Given the description of an element on the screen output the (x, y) to click on. 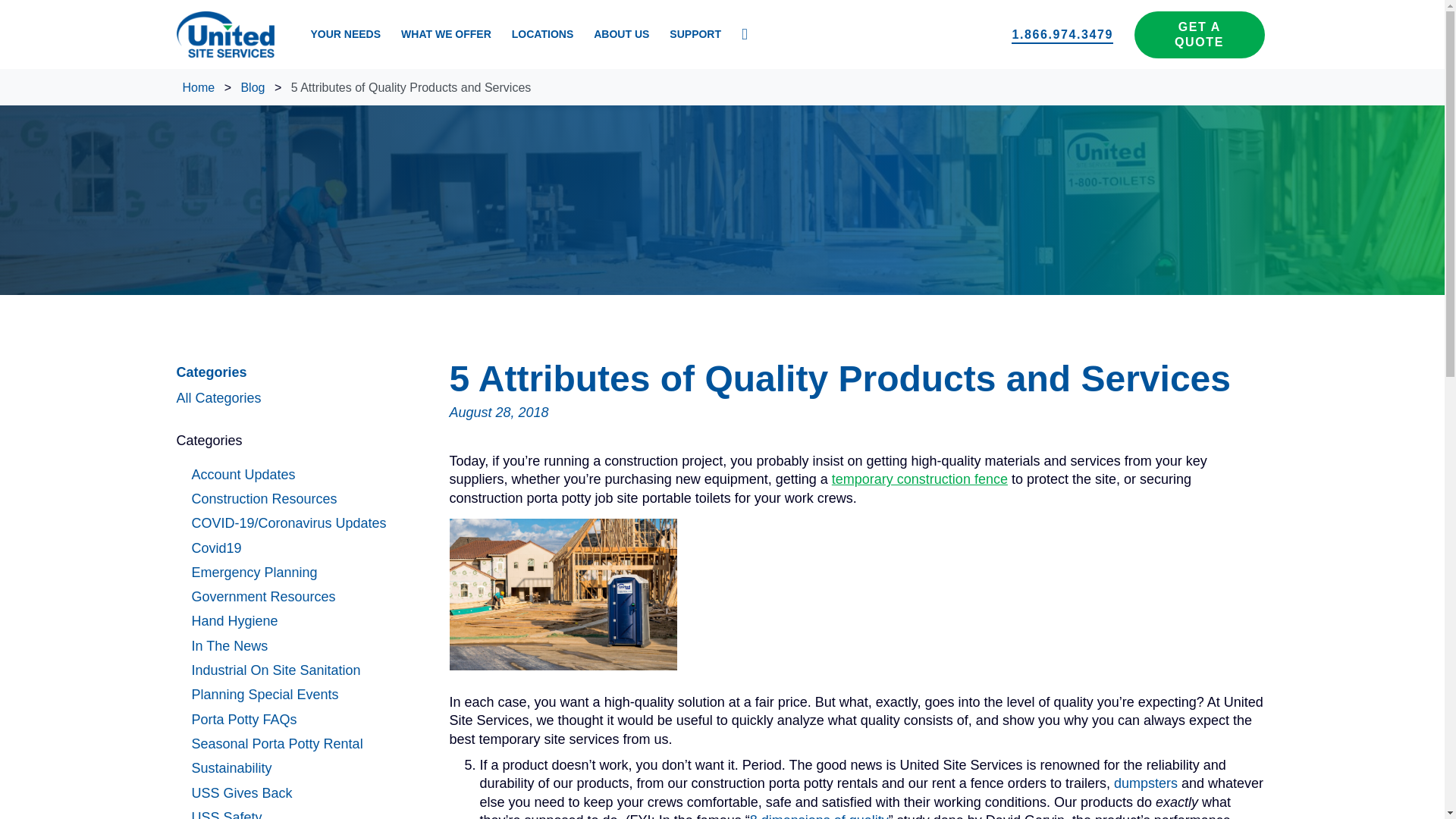
United Site Services Logo (224, 34)
YOUR NEEDS (344, 34)
WHAT WE OFFER (445, 34)
ABOUT US (621, 34)
LOCATIONS (542, 34)
